Given the description of an element on the screen output the (x, y) to click on. 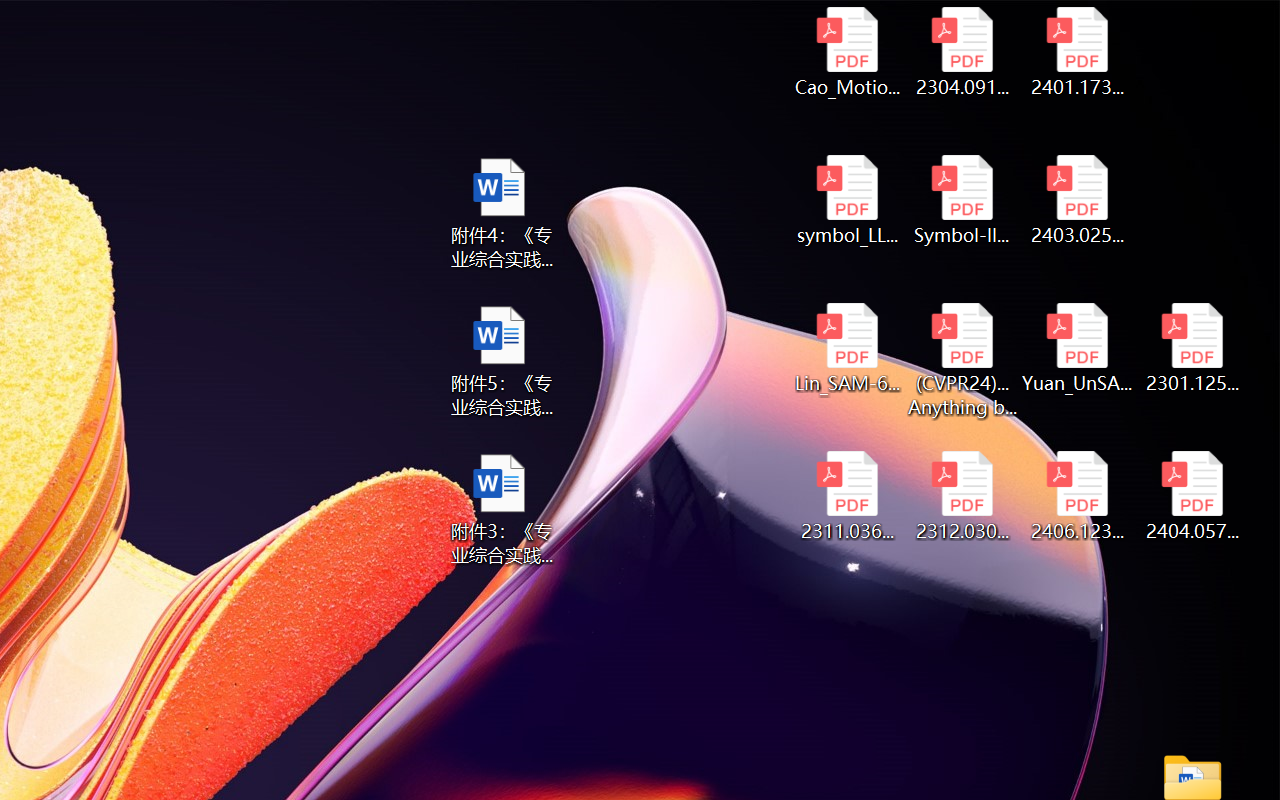
2403.02502v1.pdf (1077, 200)
2406.12373v2.pdf (1077, 496)
